Given the description of an element on the screen output the (x, y) to click on. 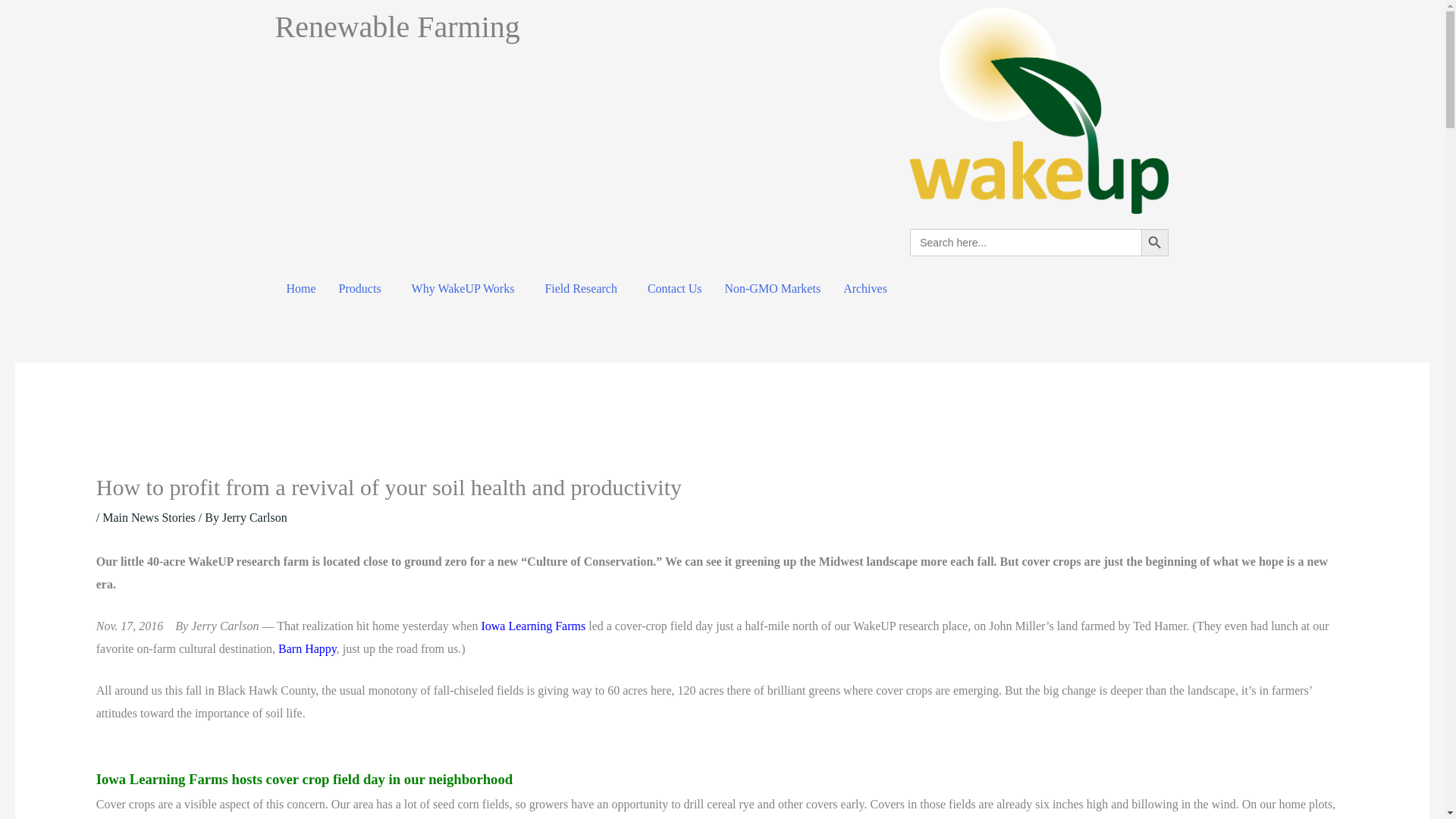
Why WakeUP Works (467, 288)
Jerry Carlson (254, 517)
Products (363, 288)
View all posts by Jerry Carlson (254, 517)
Home (300, 288)
Non-GMO Markets (772, 288)
Contact Us (674, 288)
Archives (864, 288)
Search Button (1155, 242)
Iowa Learning Farms (531, 625)
Field Research (584, 288)
Main News Stories (148, 517)
Barn Happy (307, 648)
